Given the description of an element on the screen output the (x, y) to click on. 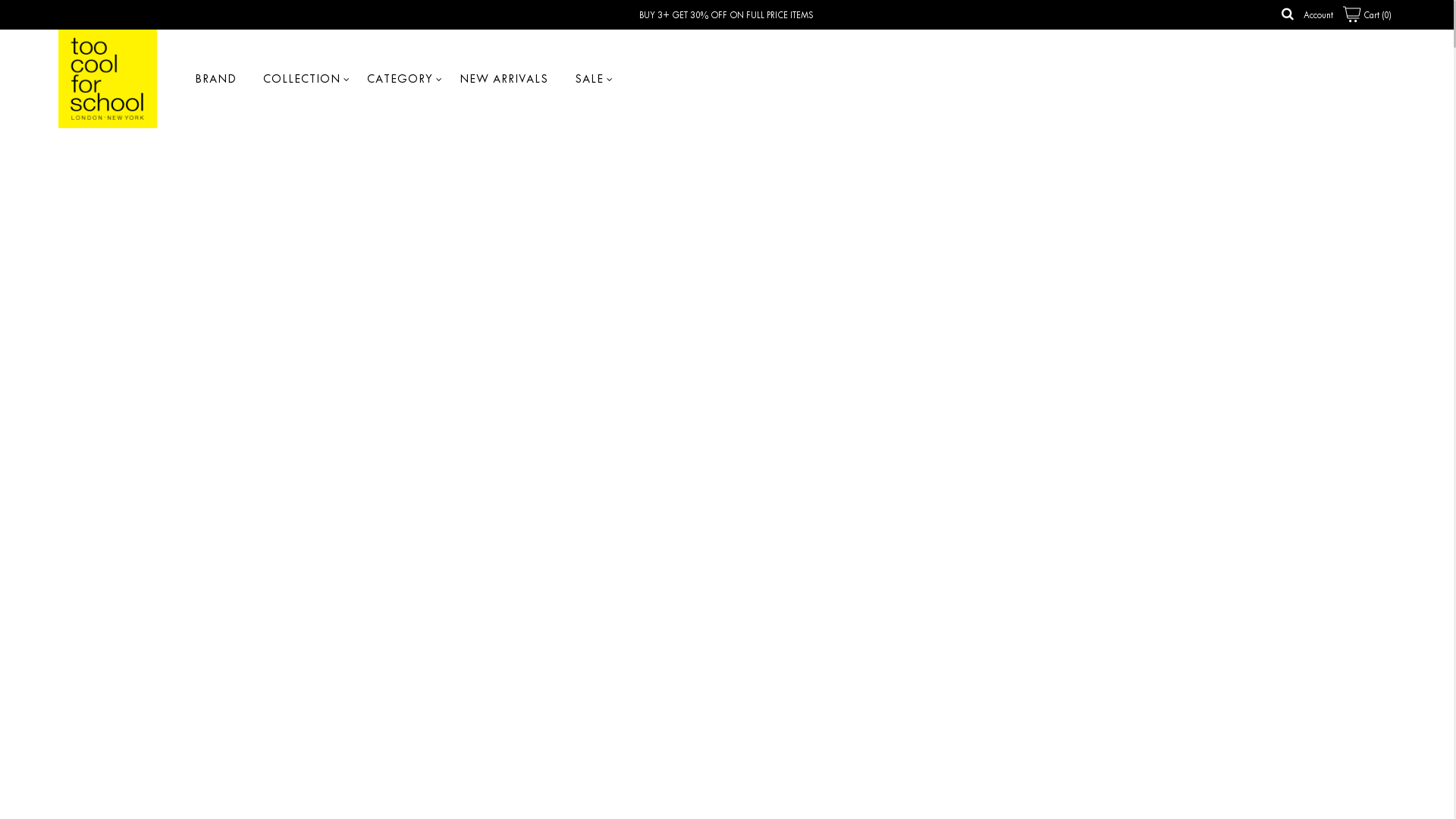
Account Element type: text (1317, 14)
CATEGORY Element type: text (399, 78)
FULL PRICE ITEMS Element type: text (779, 14)
Cart (0) Element type: text (1367, 14)
COLLECTION Element type: text (301, 78)
SALE Element type: text (589, 78)
NEW ARRIVALS Element type: text (503, 78)
BRAND Element type: text (215, 78)
